Given the description of an element on the screen output the (x, y) to click on. 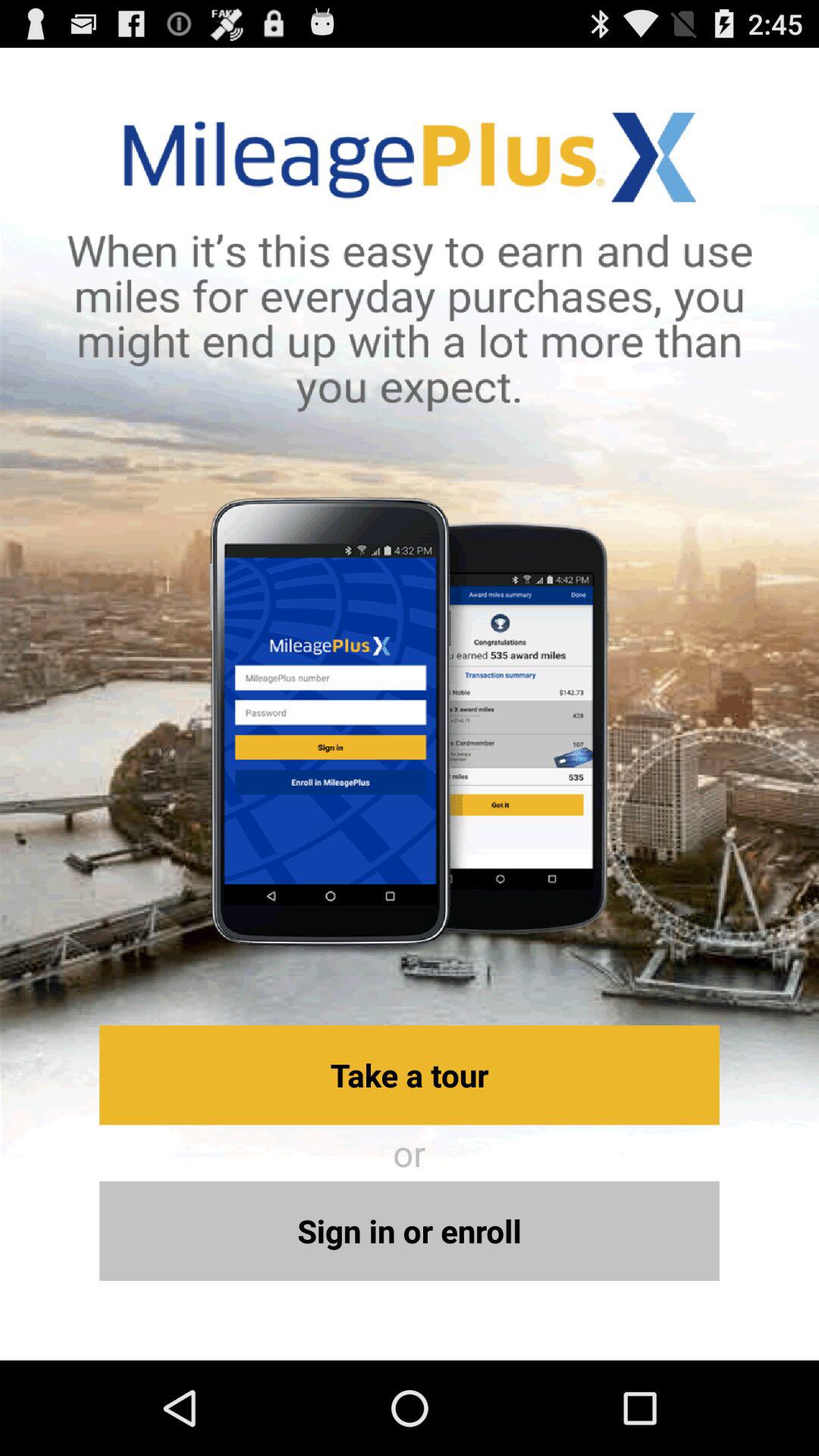
choose the item below the or icon (409, 1230)
